Given the description of an element on the screen output the (x, y) to click on. 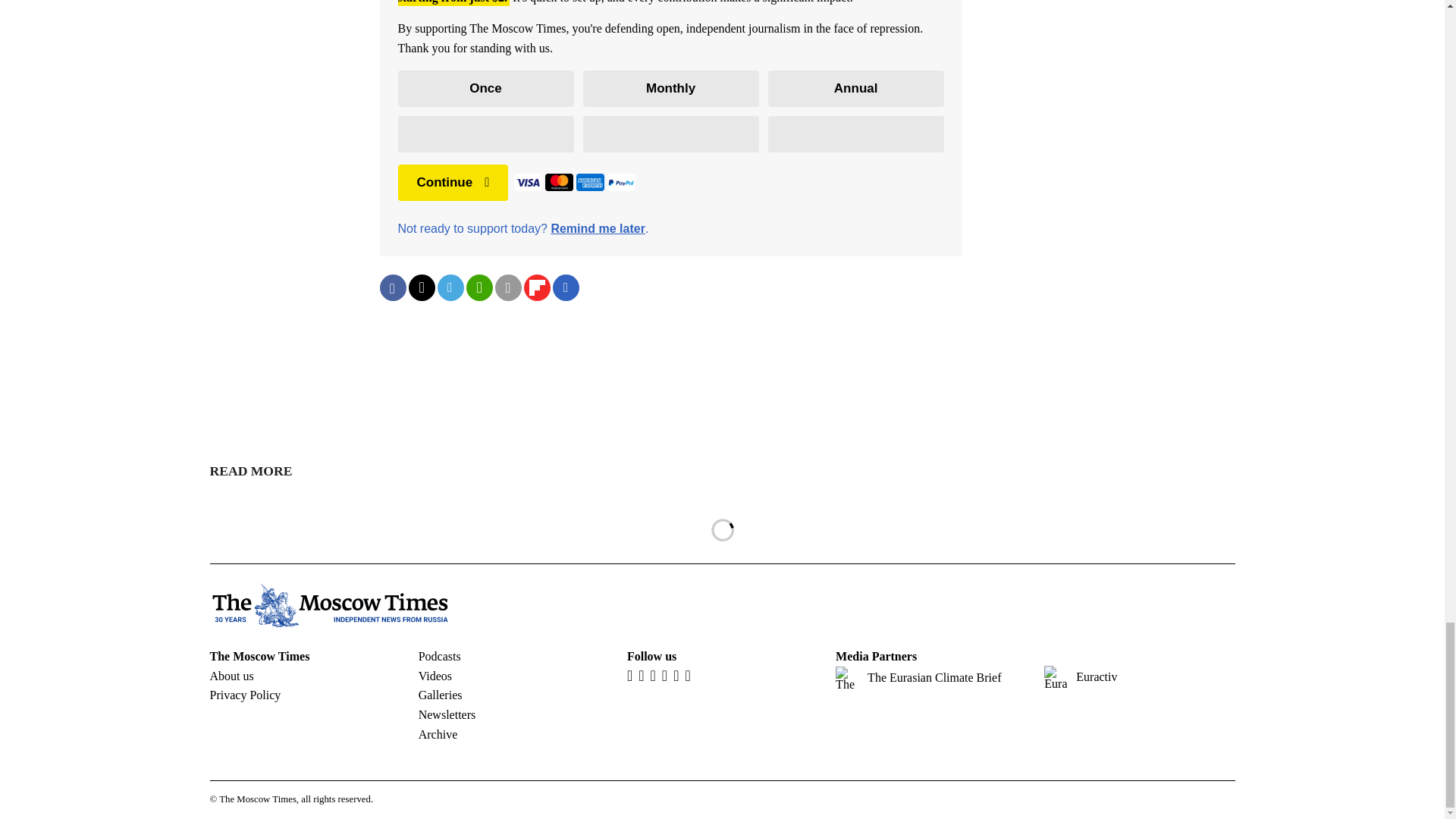
Share on Facebook (392, 287)
Share on Telegram (449, 287)
Share on Flipboard (536, 287)
Share on Twitter (420, 287)
